Given the description of an element on the screen output the (x, y) to click on. 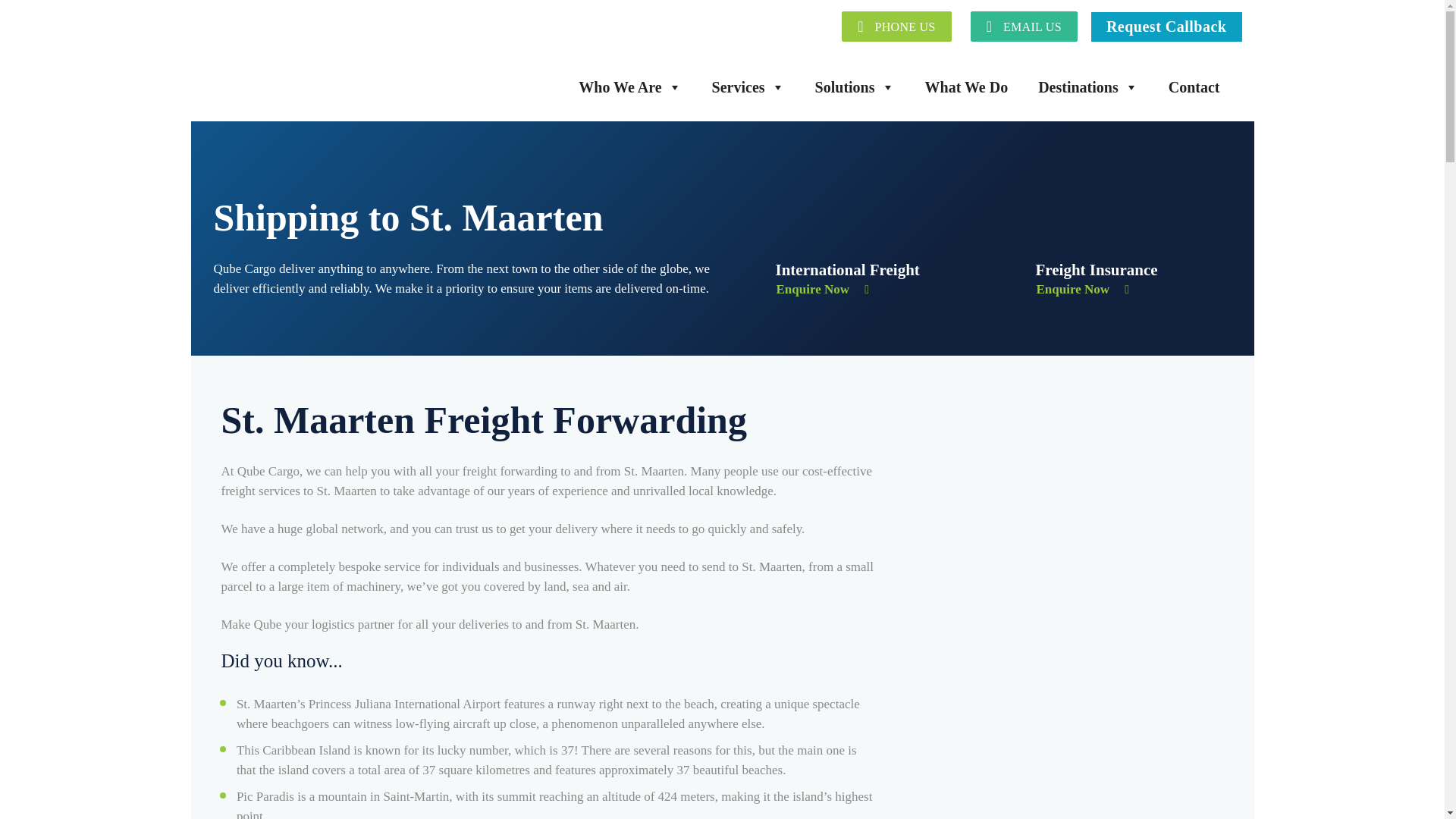
Phone Us (896, 26)
EMAIL US (1024, 26)
Email Us (1024, 26)
What We Do (966, 87)
Services (748, 87)
Destinations (1087, 87)
Who We Are (629, 87)
Request Callback (1166, 25)
PHONE US (896, 26)
Solutions (855, 87)
